Given the description of an element on the screen output the (x, y) to click on. 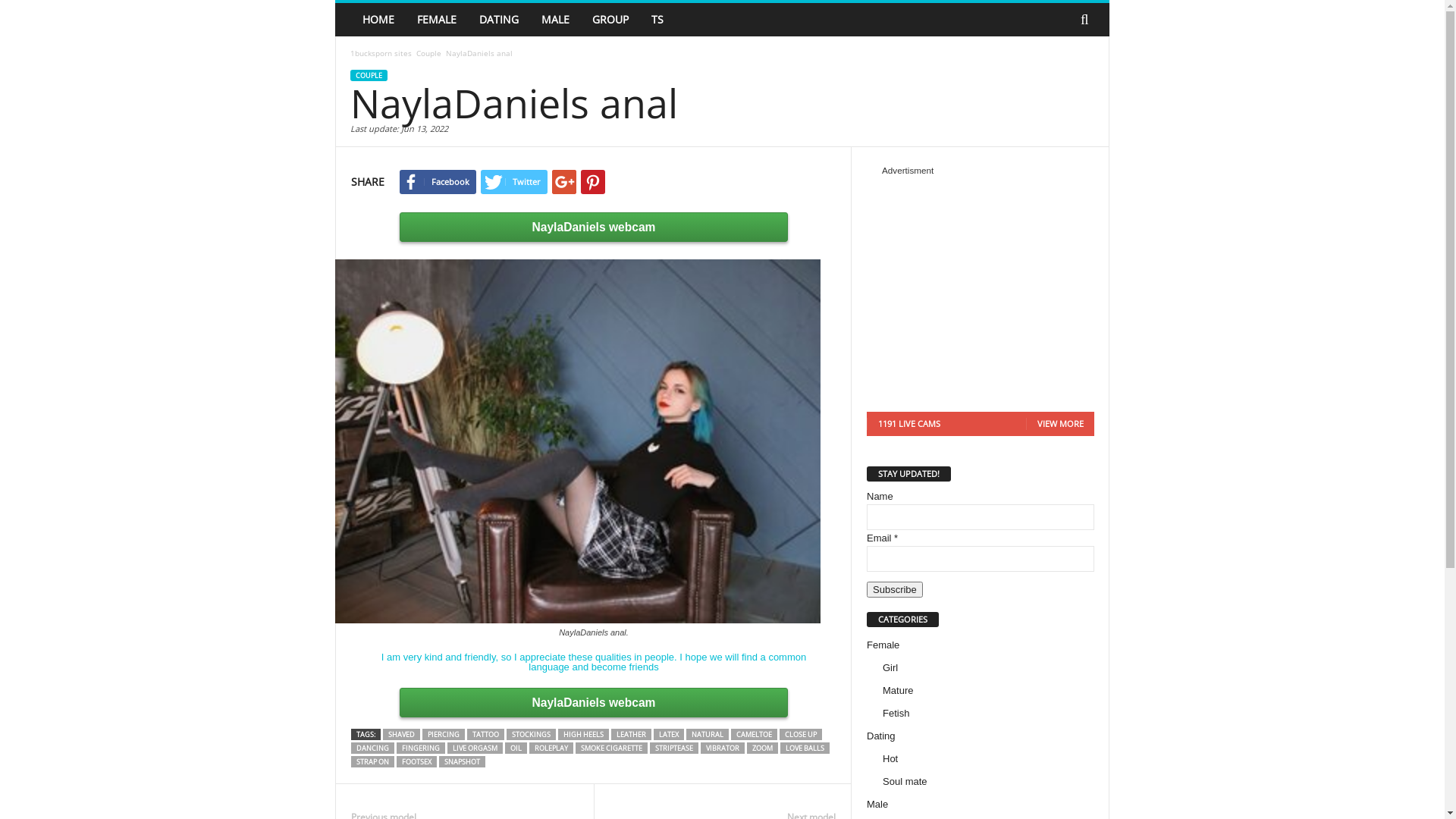
Dating Element type: text (880, 735)
Subscribe Element type: text (894, 589)
DATING Element type: text (498, 19)
Share on Googleplus Element type: hover (564, 181)
1bucksporn sites Element type: text (380, 52)
TS Element type: text (657, 19)
NaylaDaniels webcam Element type: text (593, 226)
HOME Element type: text (378, 19)
COUPLE Element type: text (368, 75)
Twitter Element type: text (513, 181)
Soul mate Element type: text (904, 781)
Mature Element type: text (897, 690)
Share on Pinterest Element type: hover (592, 181)
Facebook Element type: text (437, 181)
Male Element type: text (877, 803)
Girl Element type: text (889, 667)
Fetish Element type: text (895, 712)
NaylaDaniels anal Element type: hover (593, 441)
FEMALE Element type: text (436, 19)
NaylaDaniels webcam Element type: text (593, 702)
s1_glamour_1_elvira Element type: hover (980, 287)
Female Element type: text (882, 644)
MALE Element type: text (555, 19)
Hot Element type: text (889, 758)
Couple Element type: text (428, 52)
GROUP Element type: text (610, 19)
